Given the description of an element on the screen output the (x, y) to click on. 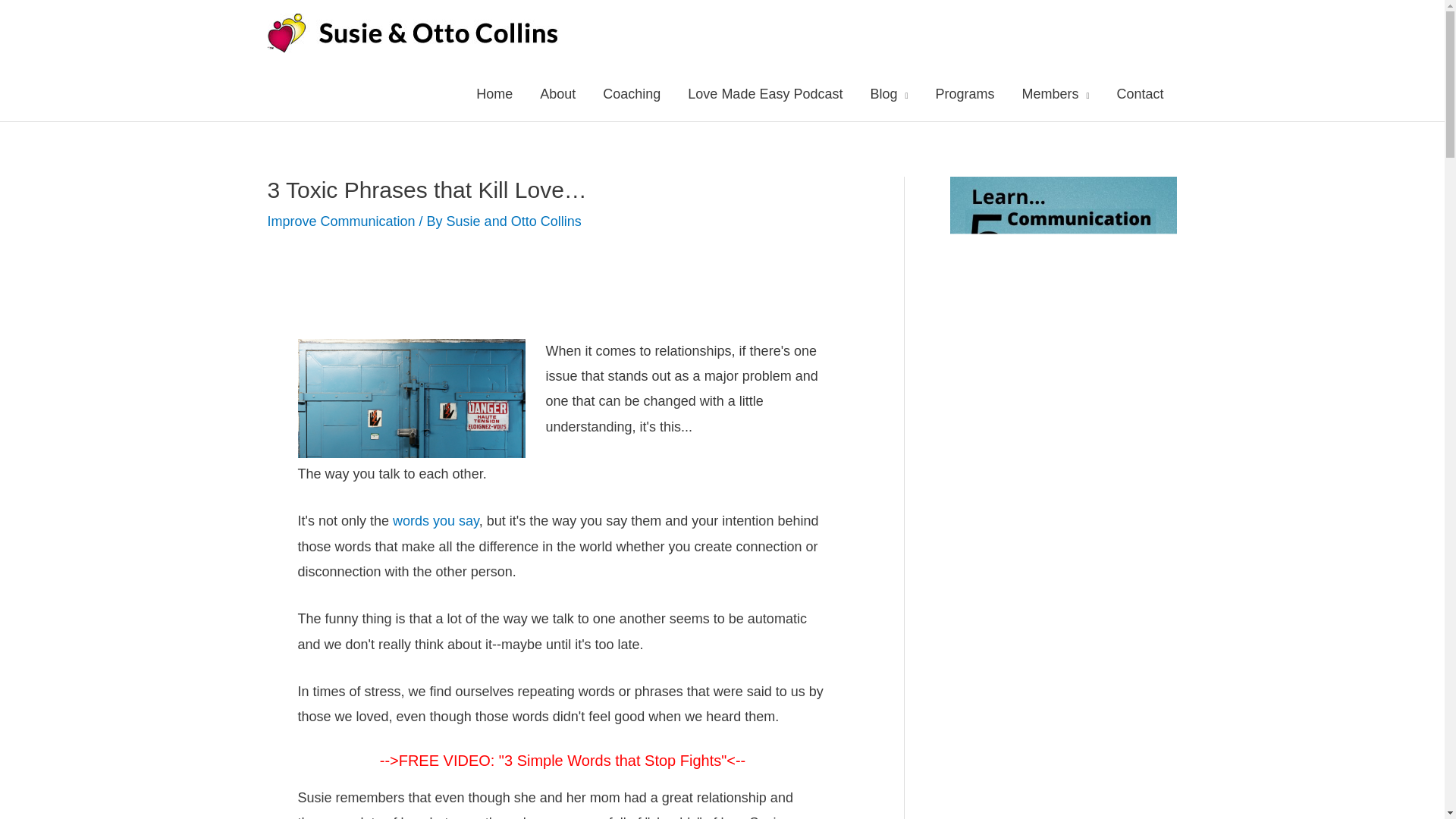
Blog (888, 93)
Improve Communication (340, 221)
View all posts by Susie and Otto Collins (513, 221)
About (557, 93)
Programs (964, 93)
Coaching (631, 93)
words you say (436, 520)
Home (494, 93)
Love Made Easy Podcast (765, 93)
Susie and Otto Collins (513, 221)
